Given the description of an element on the screen output the (x, y) to click on. 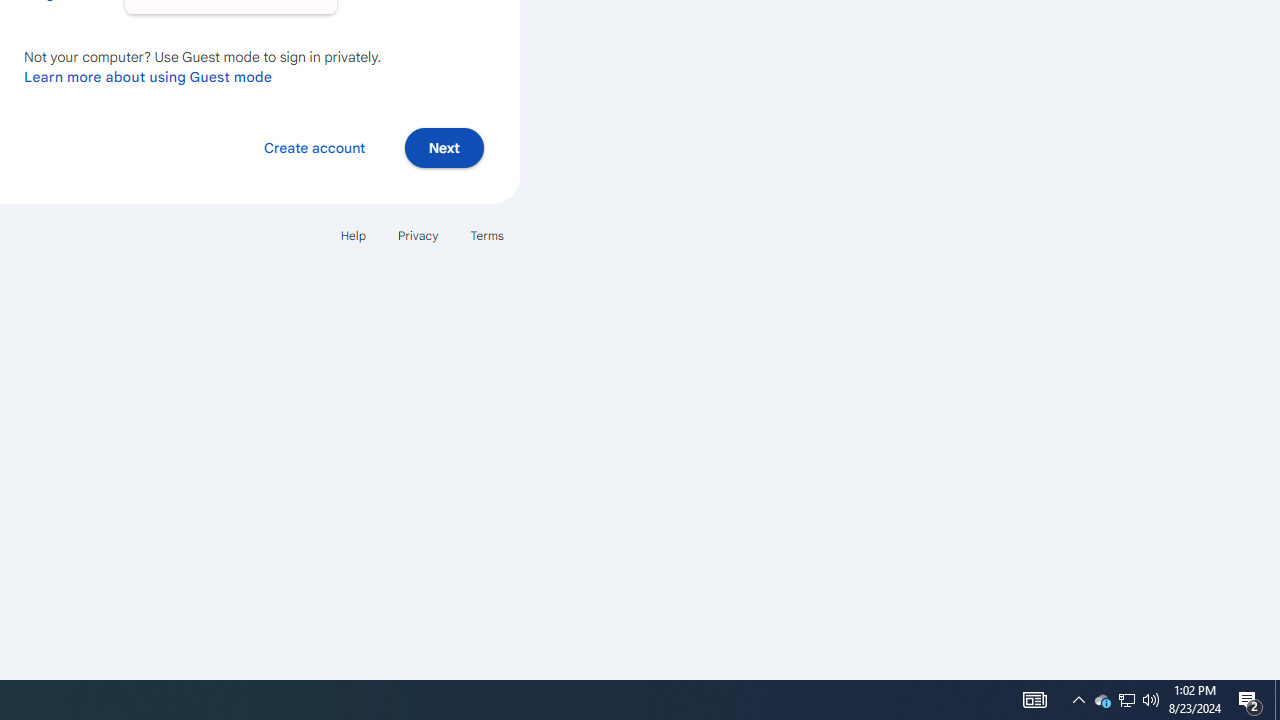
Create account (314, 146)
Learn more about using Guest mode (148, 76)
